Given the description of an element on the screen output the (x, y) to click on. 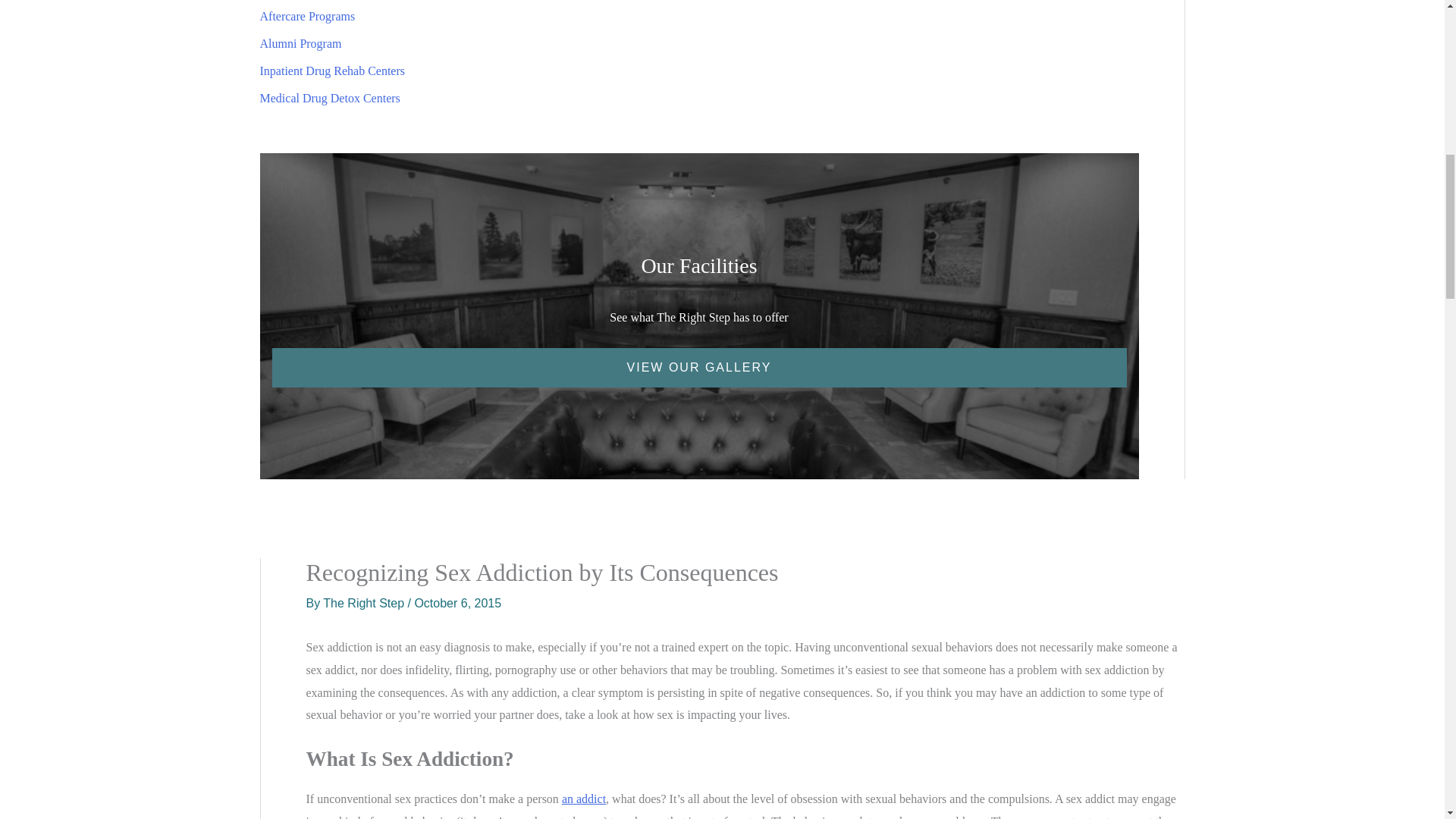
View all posts by The Right Step (365, 603)
